Given the description of an element on the screen output the (x, y) to click on. 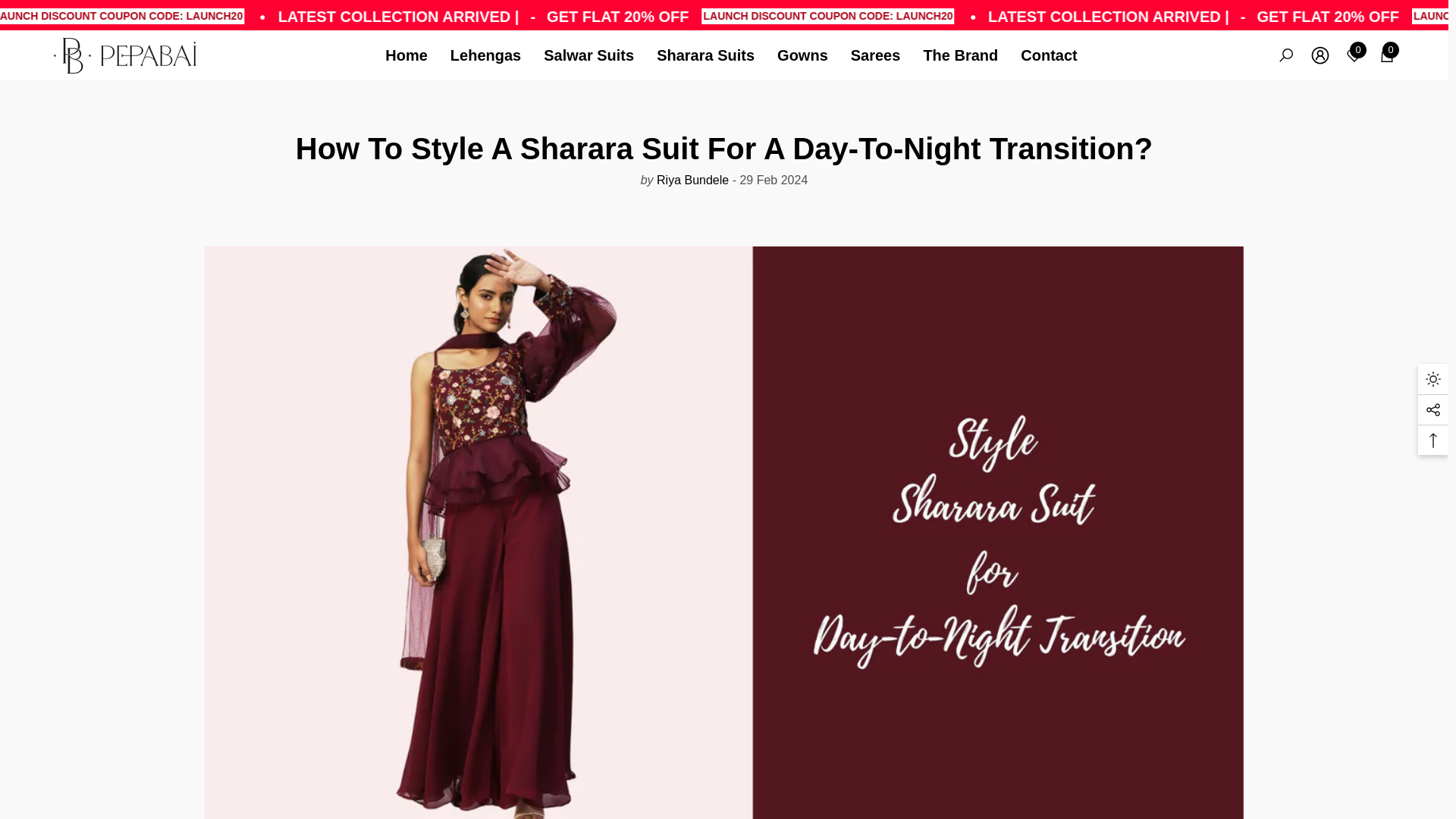
Contact (1048, 54)
Gowns (802, 54)
Home (412, 54)
Search (1286, 54)
Lehengas (485, 54)
Sarees (876, 54)
Salwar Suits (588, 54)
Sharara Suits (705, 54)
The Brand (960, 54)
